Given the description of an element on the screen output the (x, y) to click on. 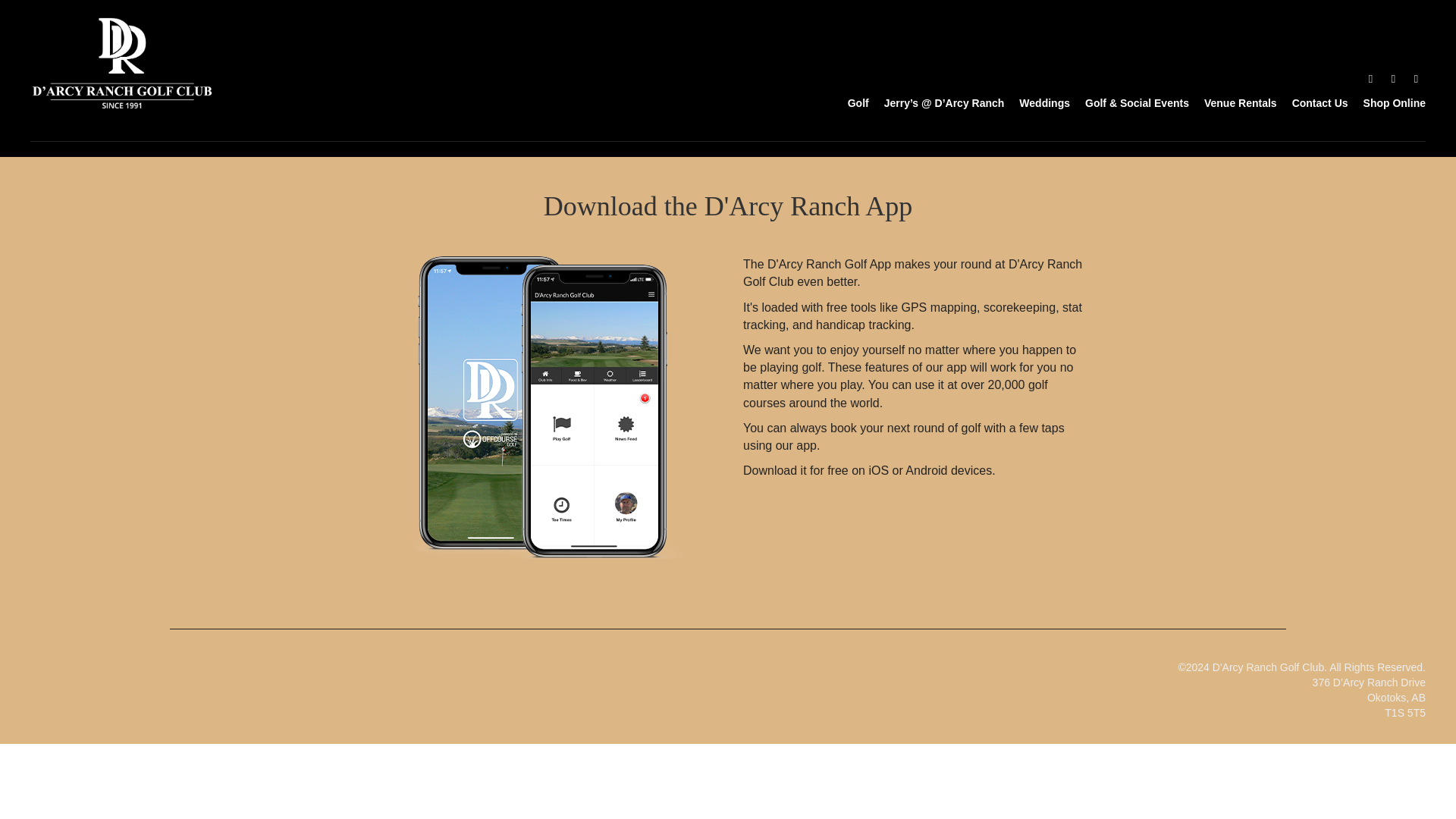
Weddings (1037, 102)
Golf (850, 102)
dr-app-3 (538, 406)
Shop Online (1386, 102)
DR-Logo-WT (122, 62)
Venue Rentals (1232, 102)
Contact Us (1312, 102)
